Given the description of an element on the screen output the (x, y) to click on. 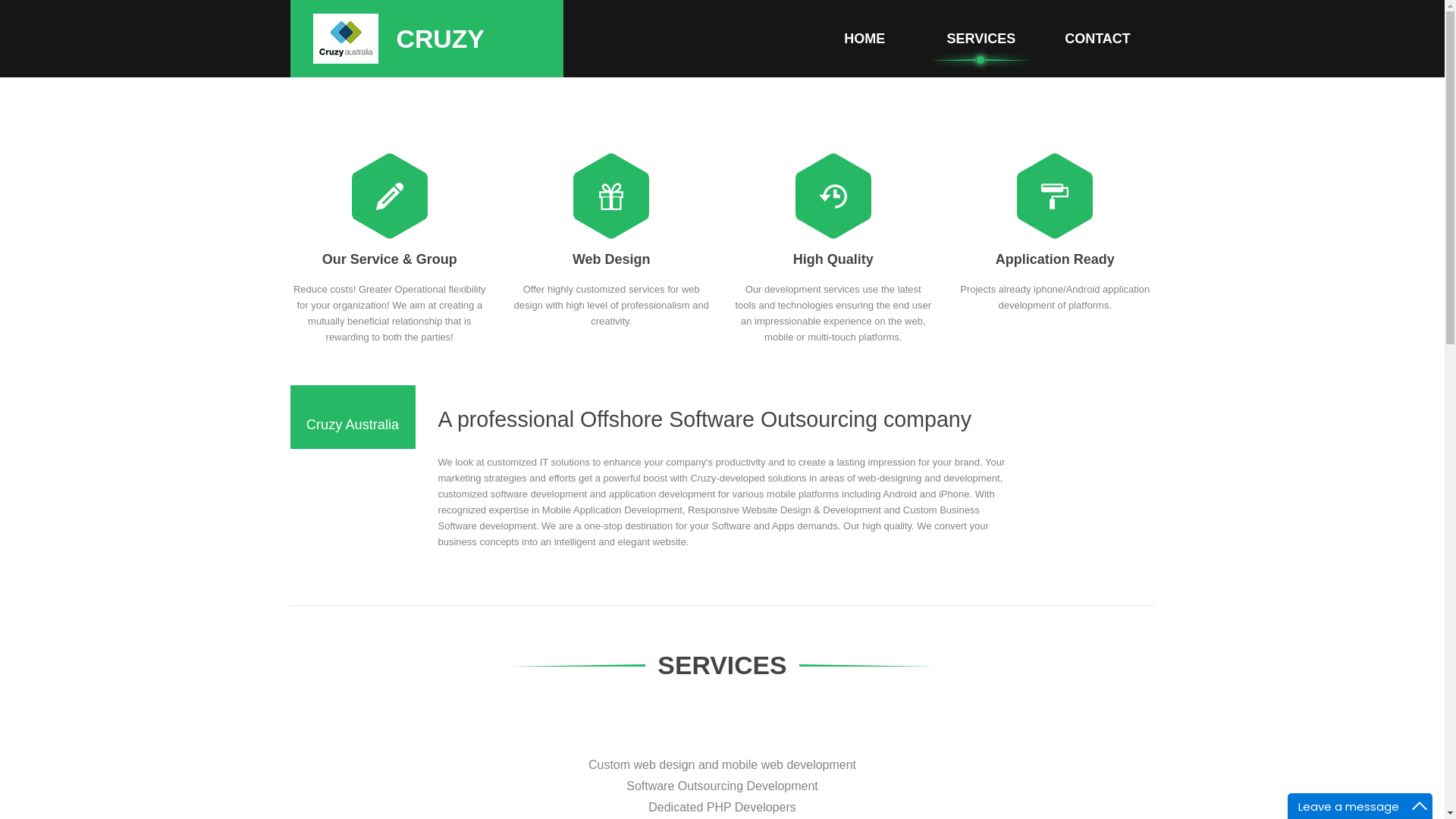
CONTACT Element type: text (1097, 38)
HOME Element type: text (864, 38)
CRUZY Element type: text (478, 38)
Maximize Element type: hover (1419, 806)
SERVICES Element type: text (981, 38)
